Given the description of an element on the screen output the (x, y) to click on. 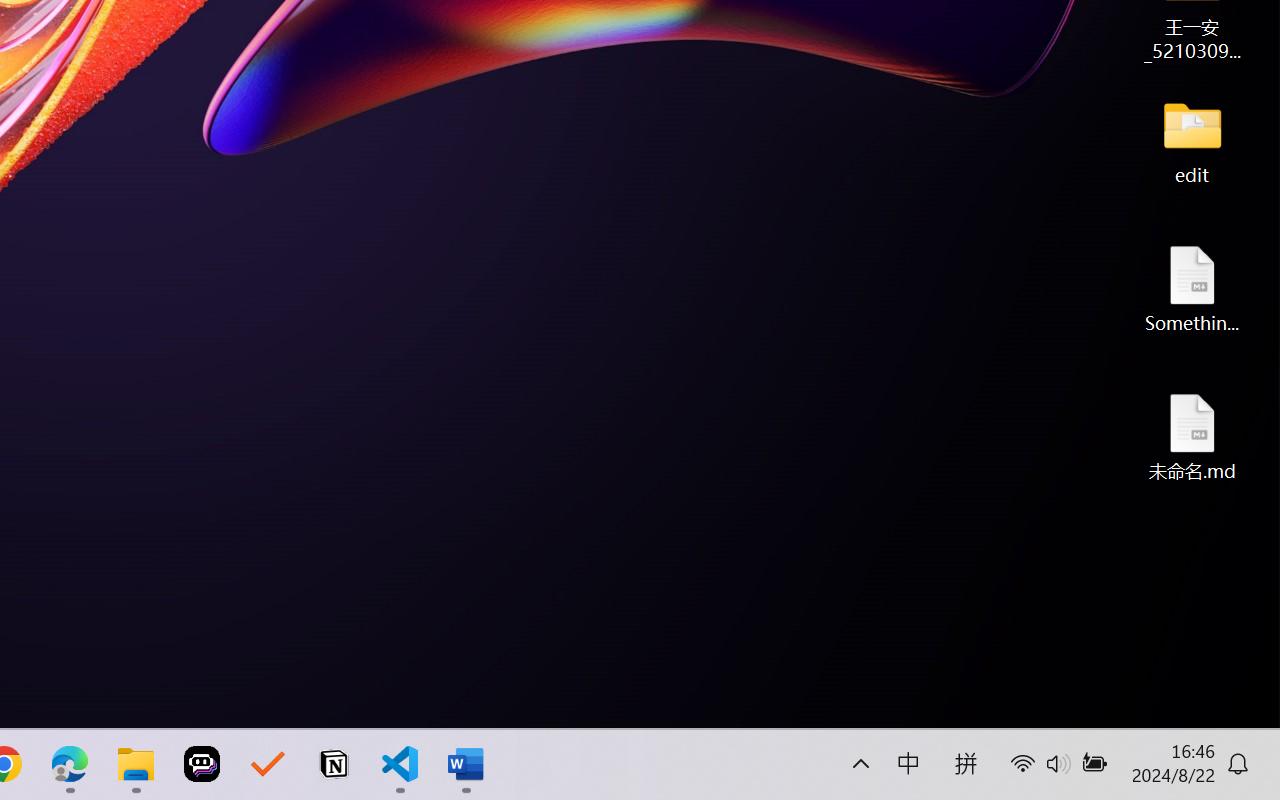
edit (1192, 140)
